Given the description of an element on the screen output the (x, y) to click on. 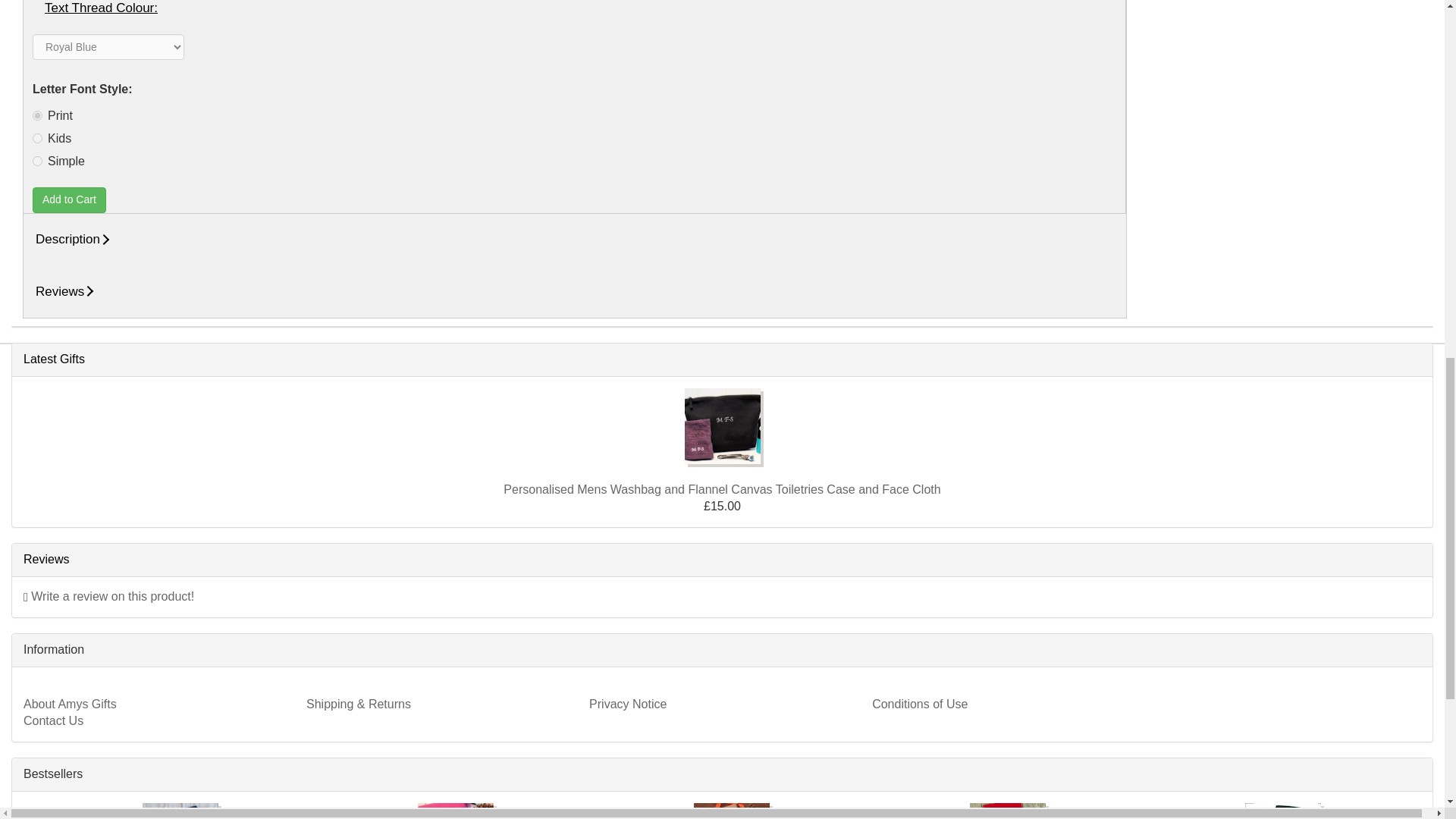
100027 (37, 161)
240 (37, 138)
183 (37, 115)
